Given the description of an element on the screen output the (x, y) to click on. 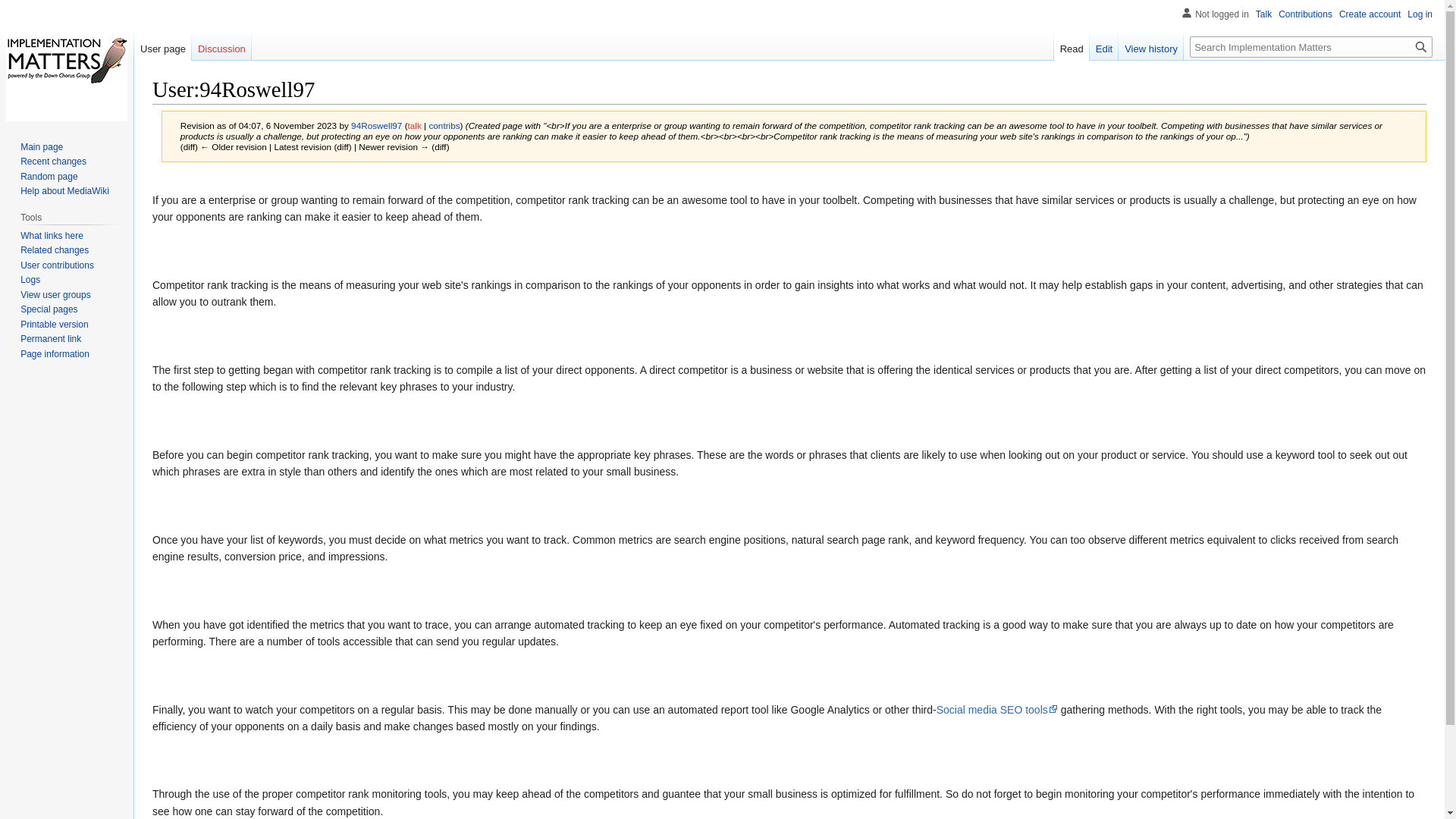
Random page (48, 176)
contribs (444, 125)
Page information (54, 353)
Discussion (221, 45)
Logs (30, 279)
Create account (1369, 14)
Recent changes (52, 161)
Read (1071, 45)
